Given the description of an element on the screen output the (x, y) to click on. 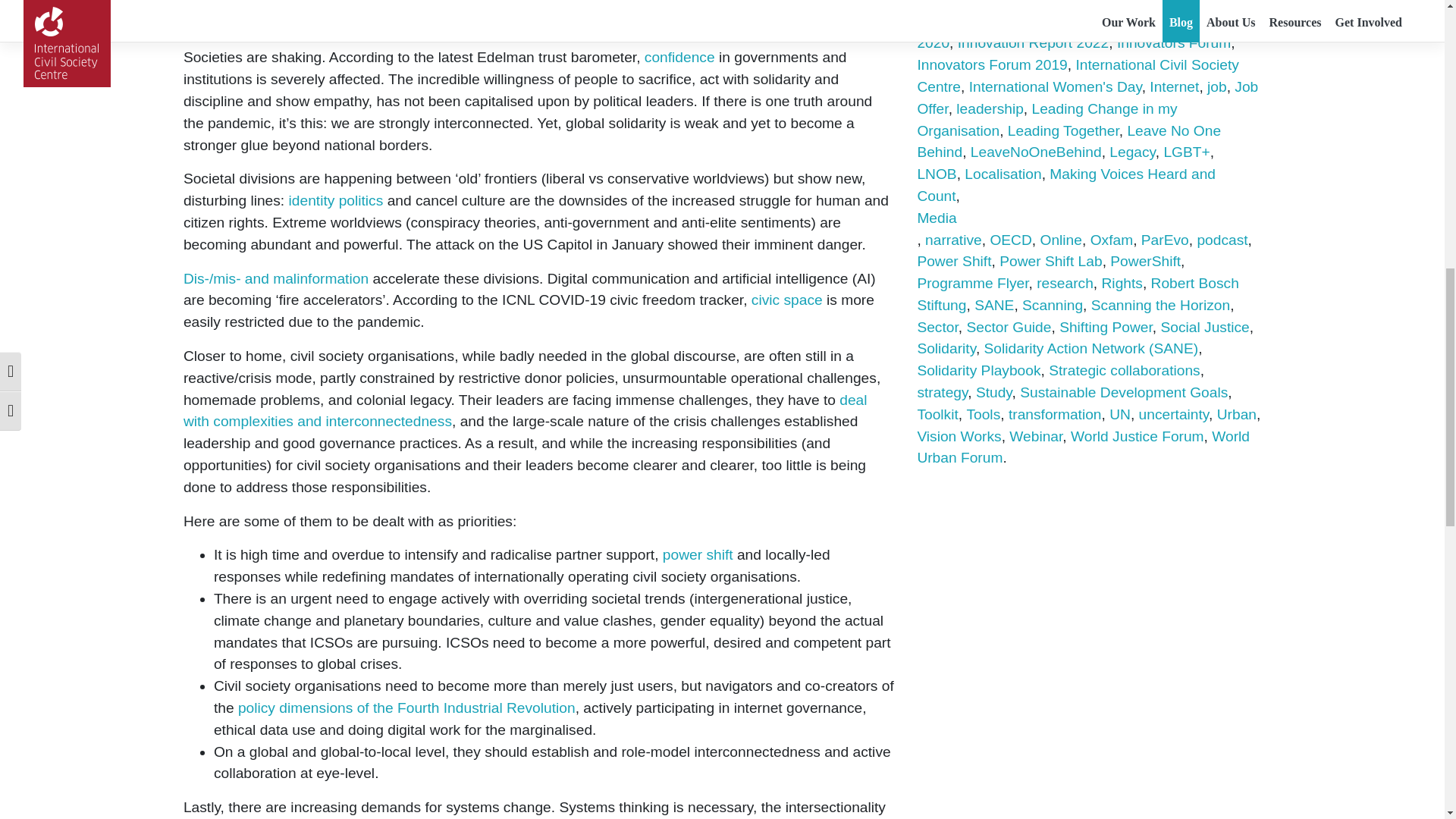
confidence (679, 57)
identity politics (336, 200)
power shift (697, 554)
civic space (786, 299)
policy dimensions of the Fourth Industrial Revolution (406, 707)
deal with complexities and interconnectedness (525, 410)
